Given the description of an element on the screen output the (x, y) to click on. 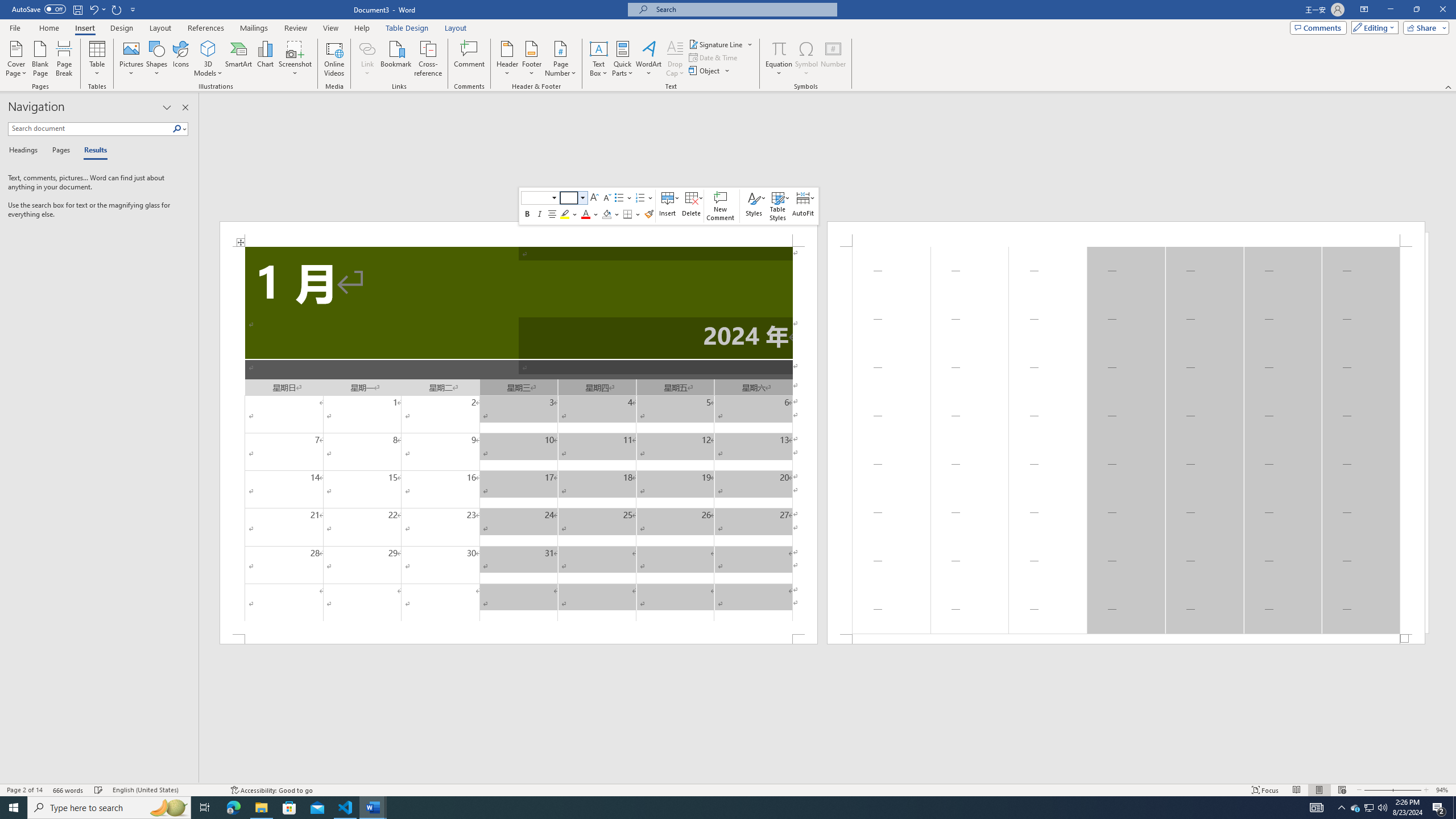
Table (97, 58)
Drop Cap (674, 58)
Start (13, 807)
New Comment (720, 205)
Page Number Page 2 of 14 (24, 790)
Equation (778, 48)
Font Color Red (585, 214)
Type here to search (108, 807)
